Given the description of an element on the screen output the (x, y) to click on. 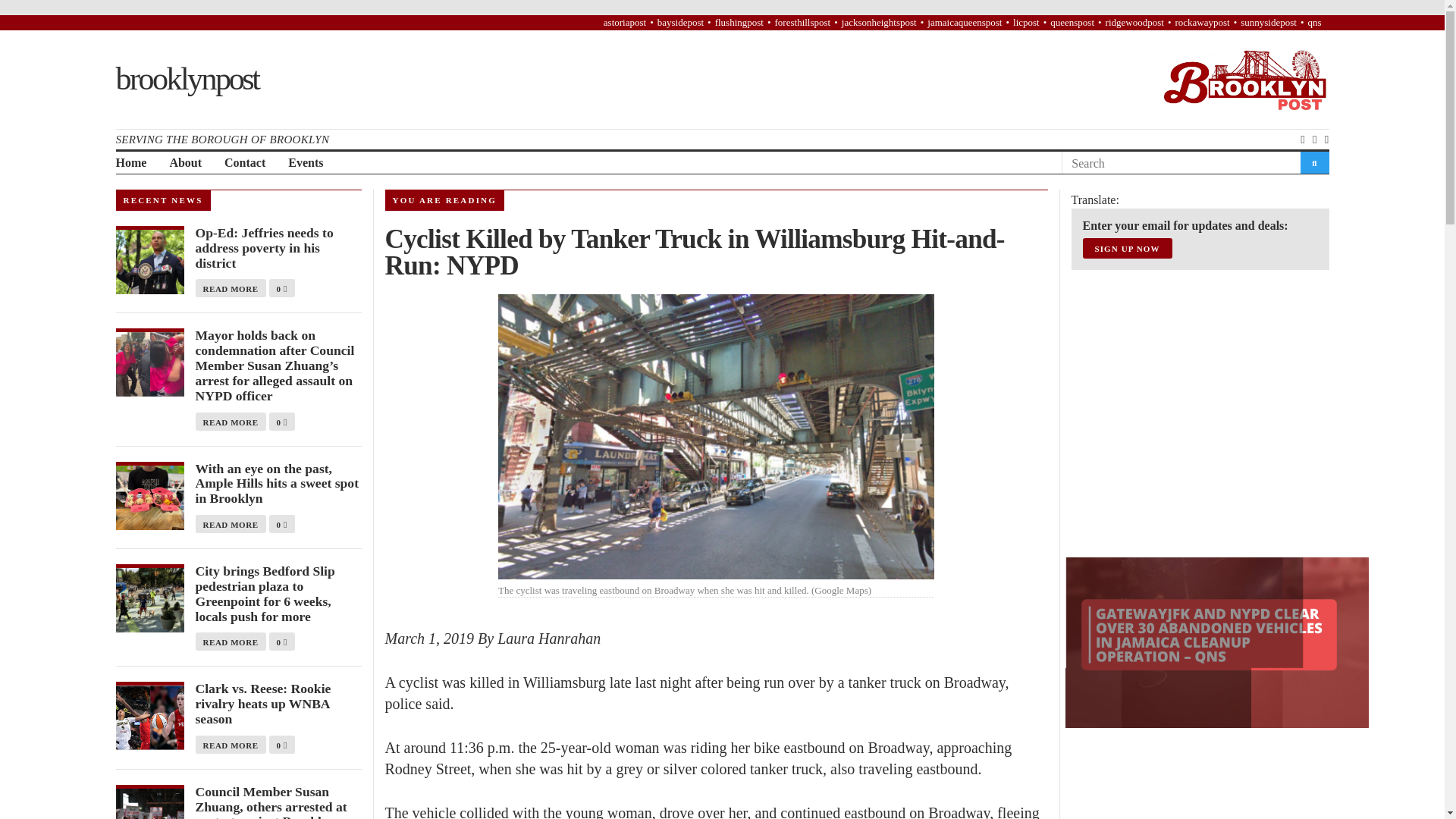
flushingpost (738, 21)
ridgewoodpost (1134, 21)
Contact (244, 163)
Events (305, 163)
jacksonheightspost (879, 21)
astoriapost (625, 21)
jamaicaqueenspost (964, 21)
brooklynpost (186, 78)
About (185, 163)
Home (131, 163)
rockawaypost (1201, 21)
licpost (1026, 21)
qns (1313, 21)
foresthillspost (802, 21)
baysidepost (680, 21)
